Given the description of an element on the screen output the (x, y) to click on. 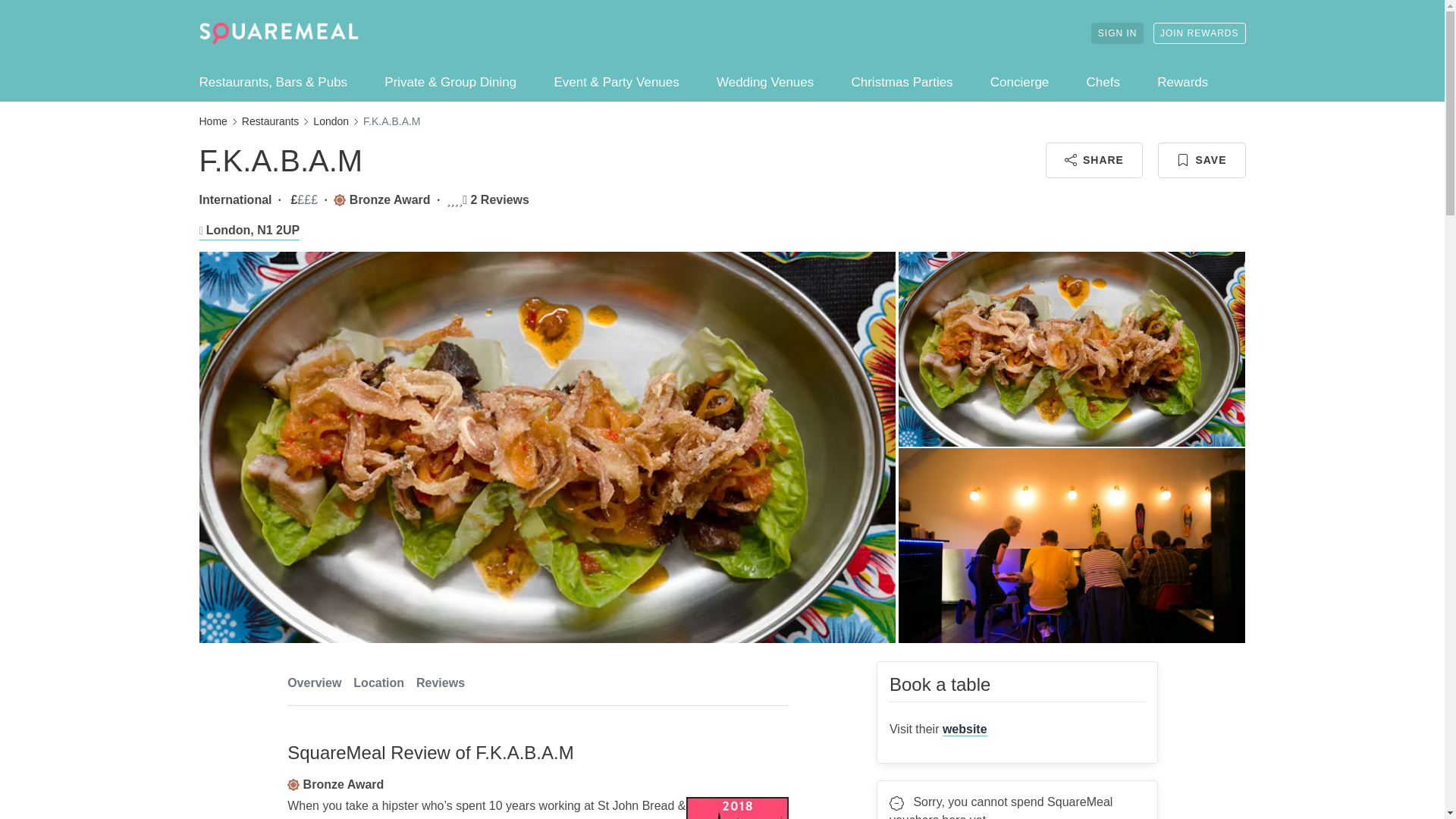
SquareMeal (278, 33)
JOIN REWARDS (1199, 33)
SIGN IN (537, 683)
